Given the description of an element on the screen output the (x, y) to click on. 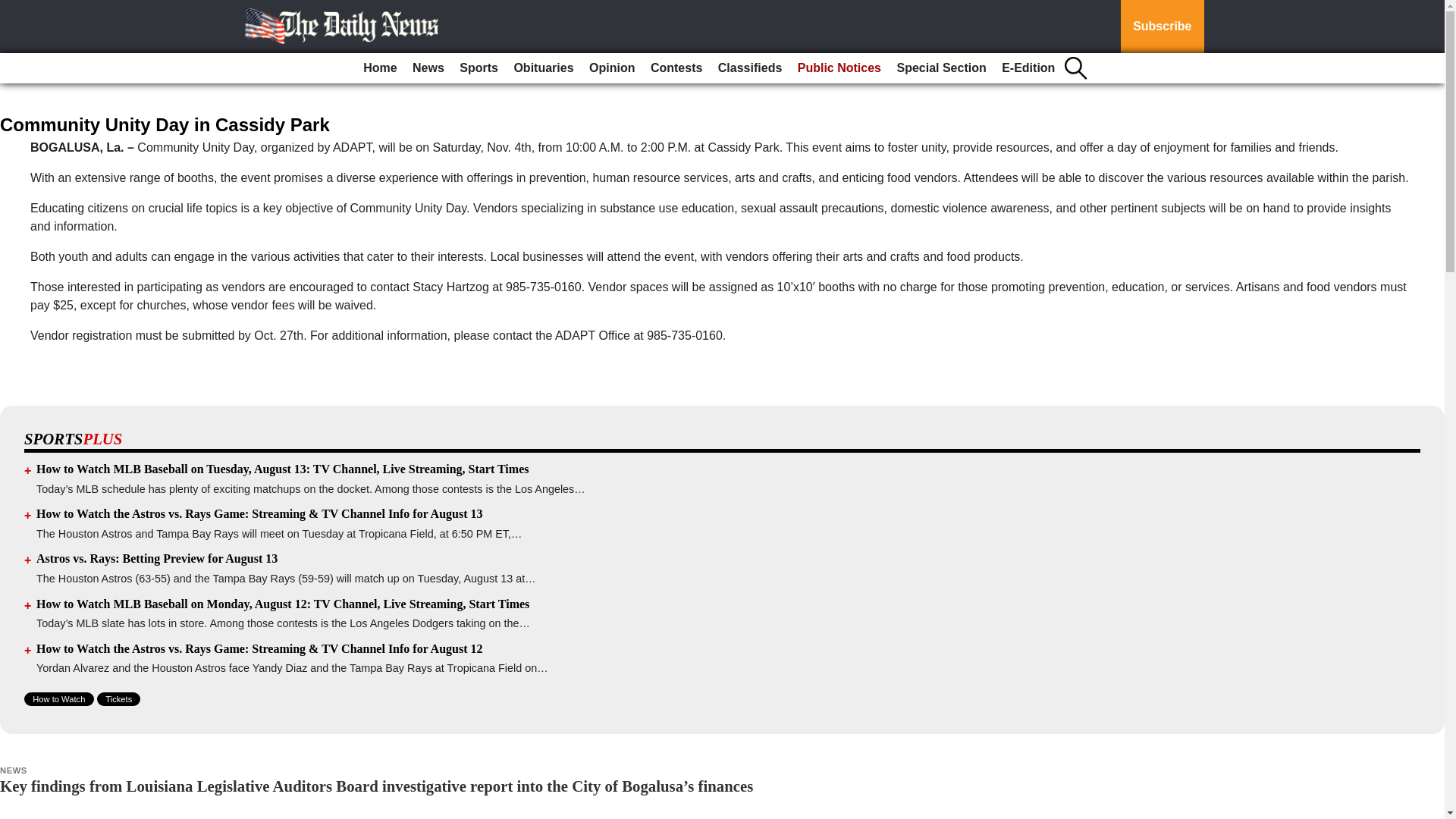
Home (379, 68)
Sports (477, 68)
Contests (676, 68)
Obituaries (542, 68)
Astros vs. Rays: Betting Preview for August 13 (157, 558)
Go (13, 9)
Tickets (118, 698)
Public Notices (839, 68)
Subscribe (1162, 26)
